Given the description of an element on the screen output the (x, y) to click on. 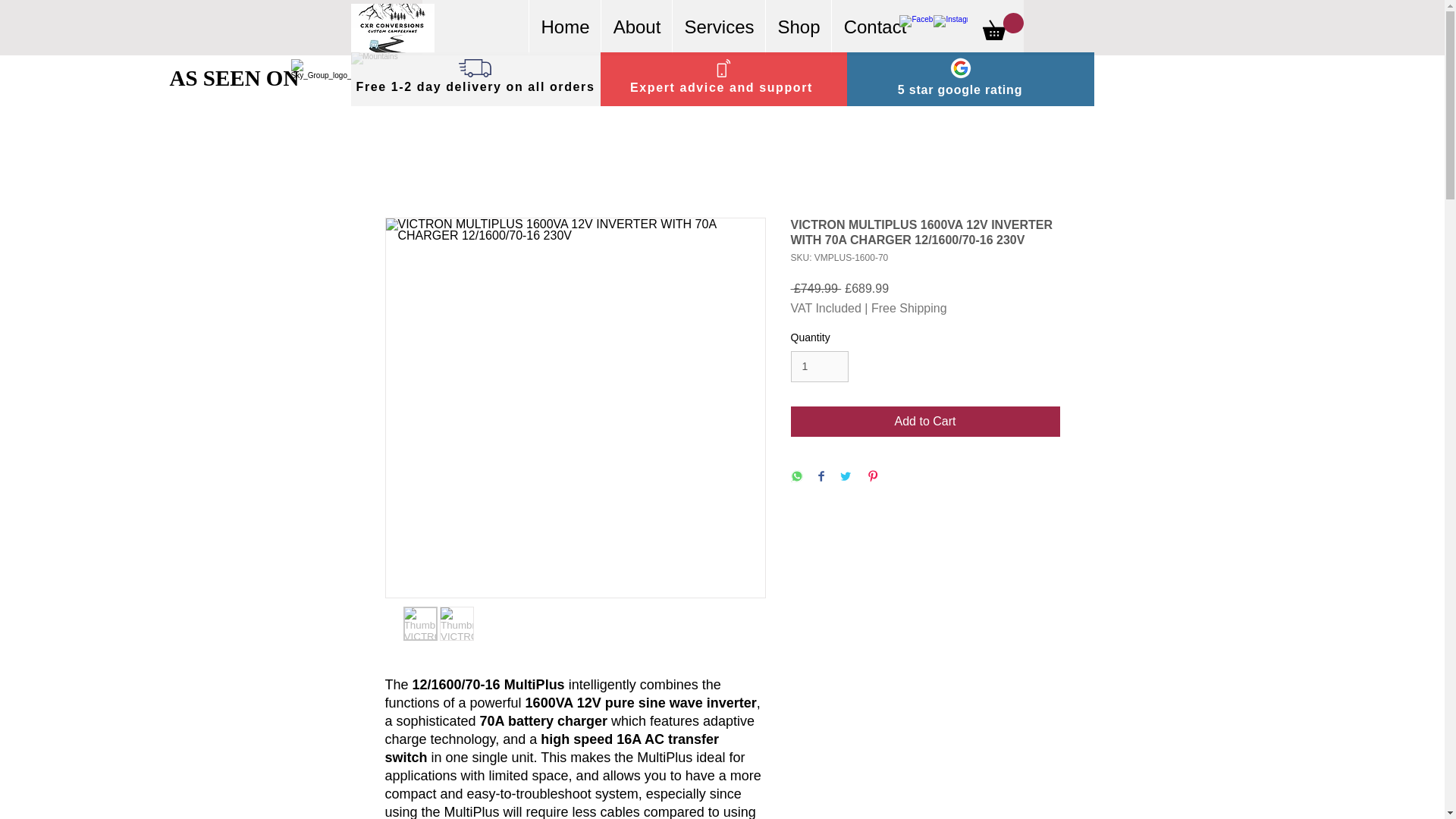
Free Shipping (908, 308)
1 (818, 366)
Home (563, 27)
Shop (798, 27)
Add to Cart (924, 421)
